Given the description of an element on the screen output the (x, y) to click on. 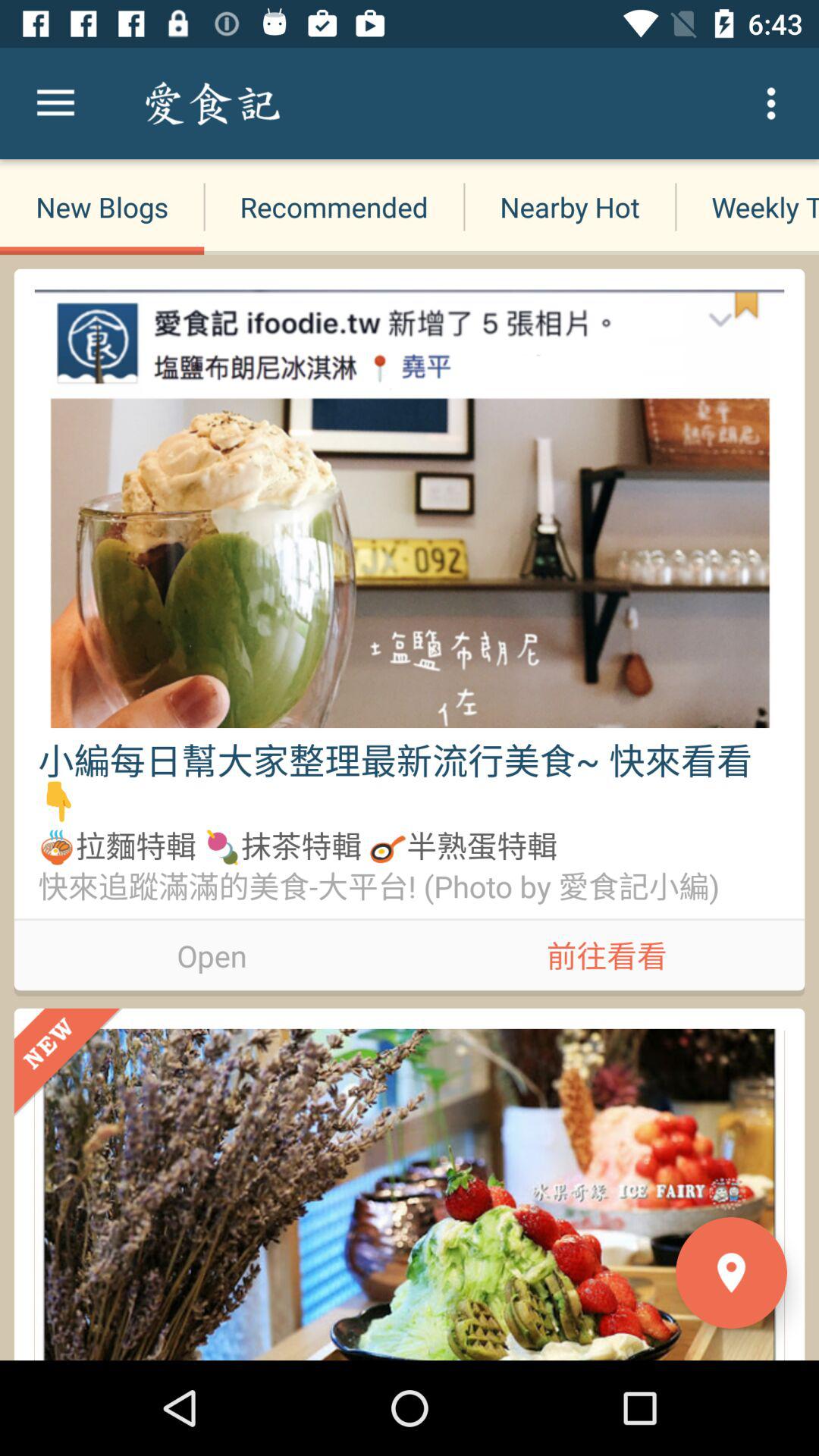
tap icon next to weekly tops icon (569, 206)
